Given the description of an element on the screen output the (x, y) to click on. 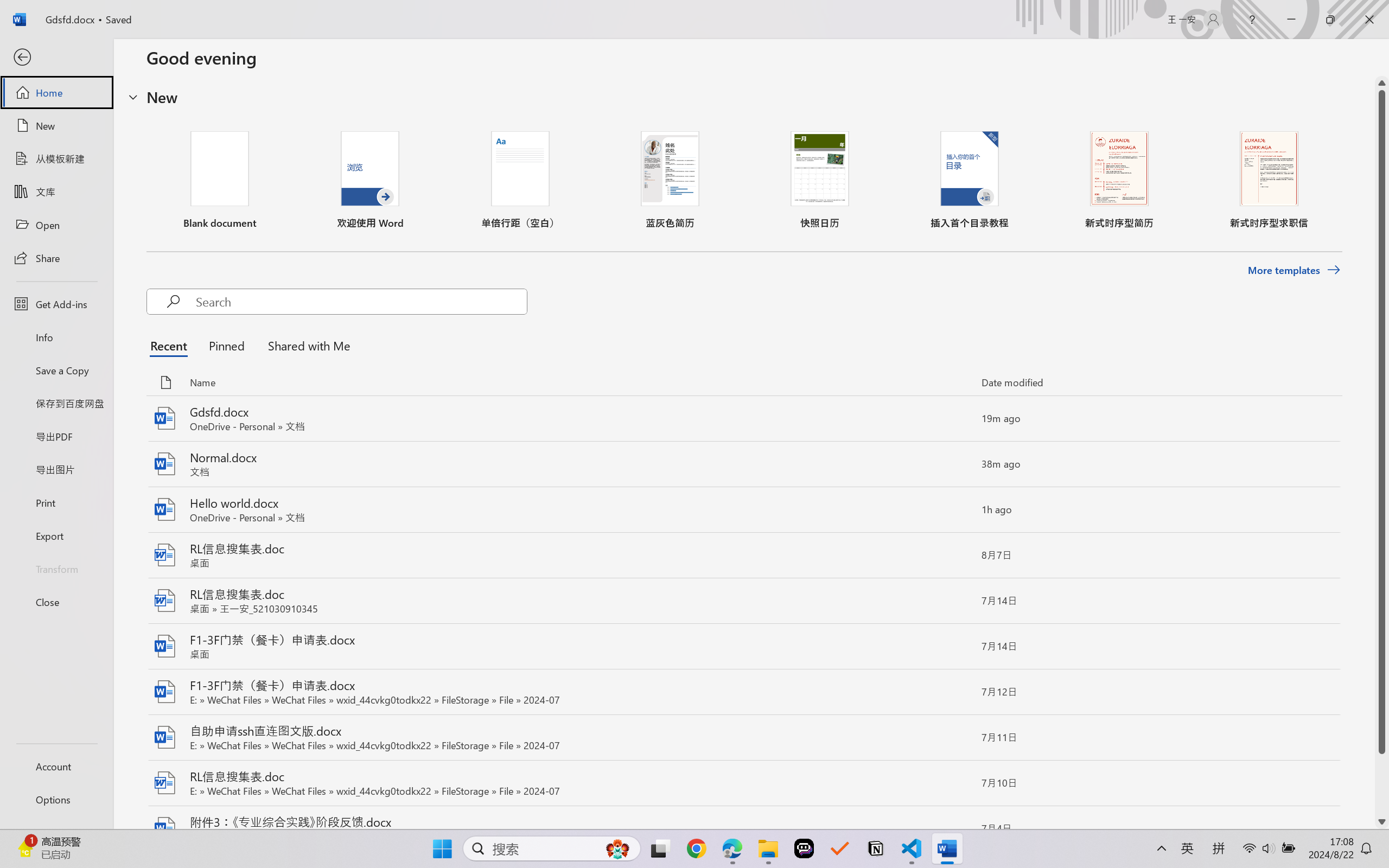
Slide Wisp Slide Master: used by slide(s) 1 (95, 156)
Previous page (1151, 144)
Freeform 11 (510, 386)
Preserve (80, 77)
Slide Title Slide Layout: used by slide(s) 1 (111, 255)
